Given the description of an element on the screen output the (x, y) to click on. 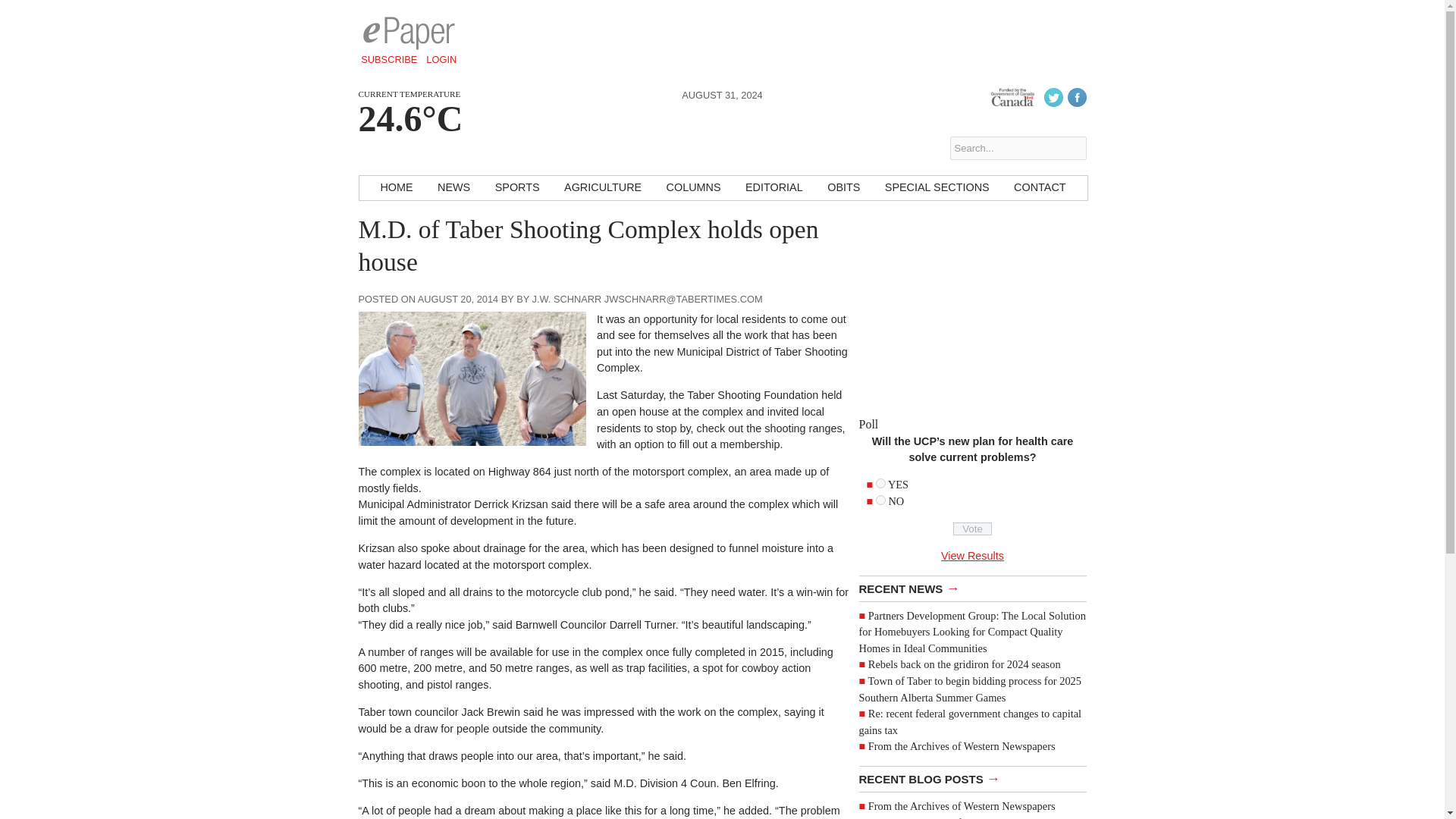
From the Archives of Western Newspapers (961, 746)
View Results (972, 555)
Re: recent federal government changes to capital gains tax (970, 721)
SUBSCRIBE (389, 58)
OBITS (843, 187)
CONTACT (1039, 187)
AGRICULTURE (602, 187)
NEWS (453, 187)
